Given the description of an element on the screen output the (x, y) to click on. 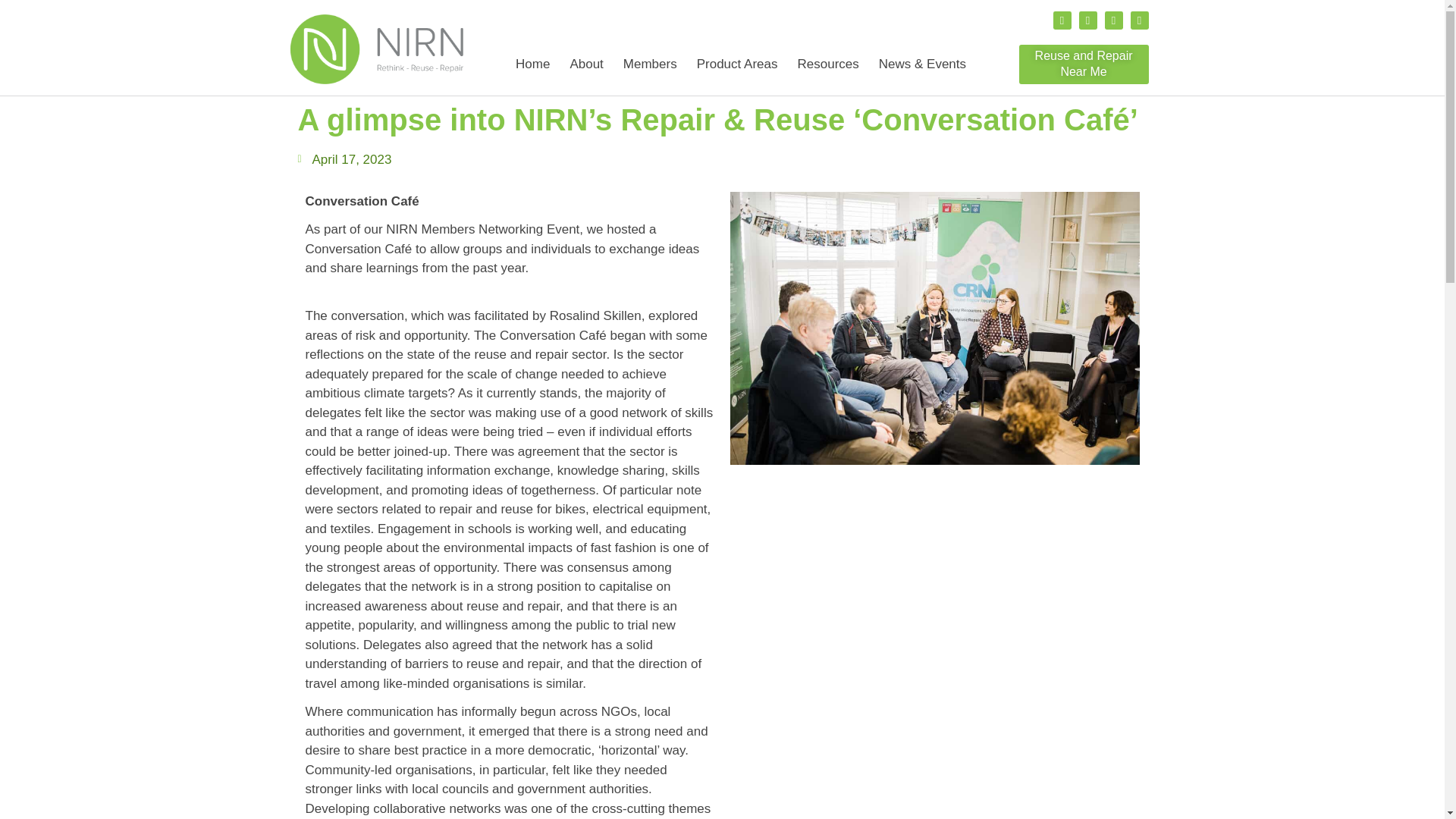
About (585, 64)
Home (532, 64)
Product Areas (737, 64)
Resources (827, 64)
Members (649, 64)
